Given the description of an element on the screen output the (x, y) to click on. 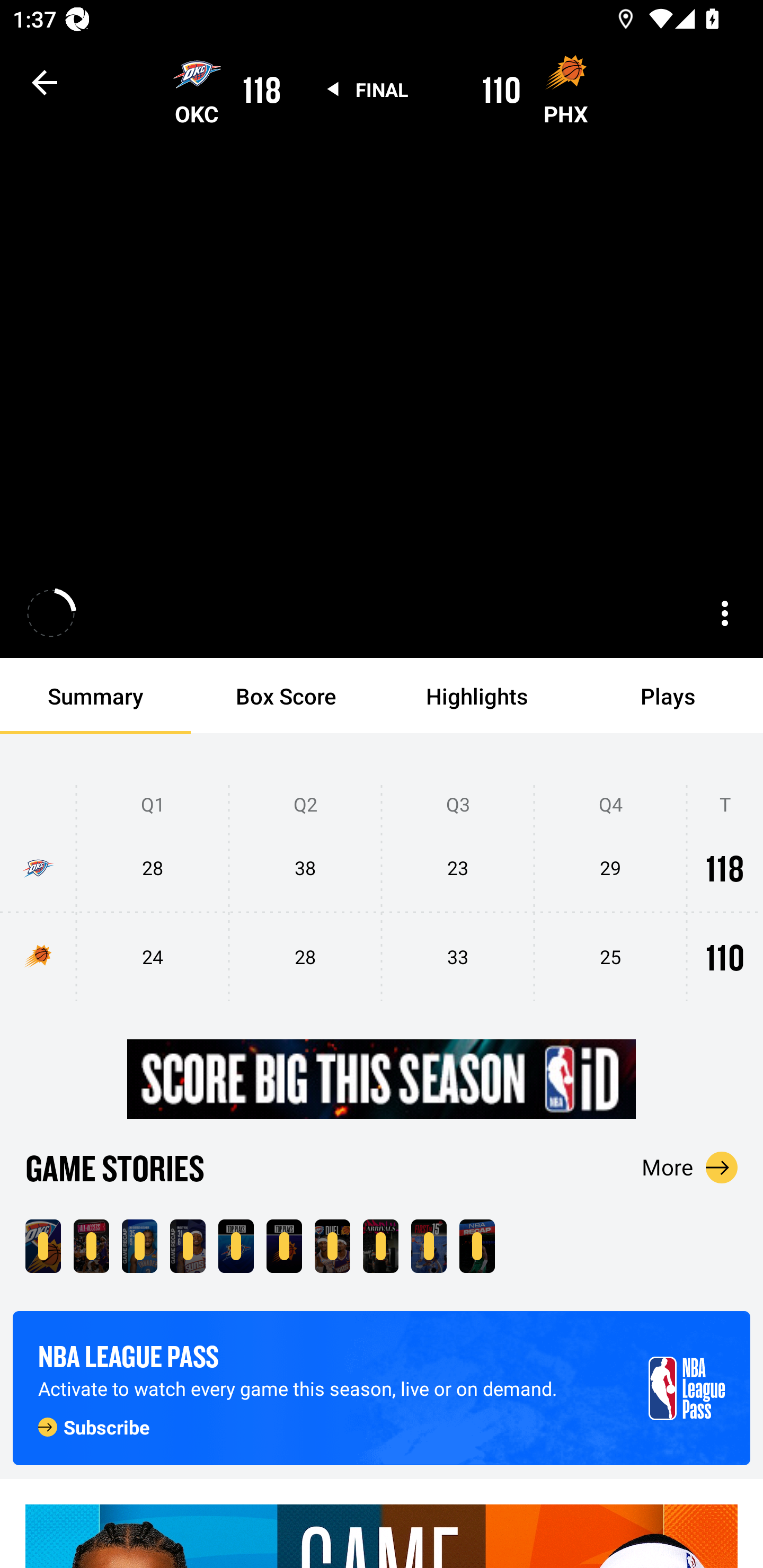
Navigate up (44, 82)
More options (724, 613)
Box Score (285, 695)
Highlights (476, 695)
Plays (667, 695)
Q1 Q2 Q3 Q4 T 28 38 23 29 118 24 28 33 25 110 (381, 893)
More (689, 1166)
NEW OKC 118, PHX 110 - Mar 3 (43, 1246)
NEW Thunder & Suns Battle In The Valley ⚡☀ (91, 1246)
NEW Highlights From Bradley Beal's 31-Point Game (187, 1246)
NEW OKC's Top Plays from OKC vs. PHX (236, 1246)
PHX's Top Plays from OKC vs. PHX NEW (284, 1246)
Bradley Beal vs Shai Gilgeous-Alexander Battle NEW (332, 1246)
Steppin' Into Sunday 🔥 NEW (380, 1246)
First To 15, Mar. 3rd NEW (428, 1246)
Sunday's Recap NEW (477, 1246)
